Given the description of an element on the screen output the (x, y) to click on. 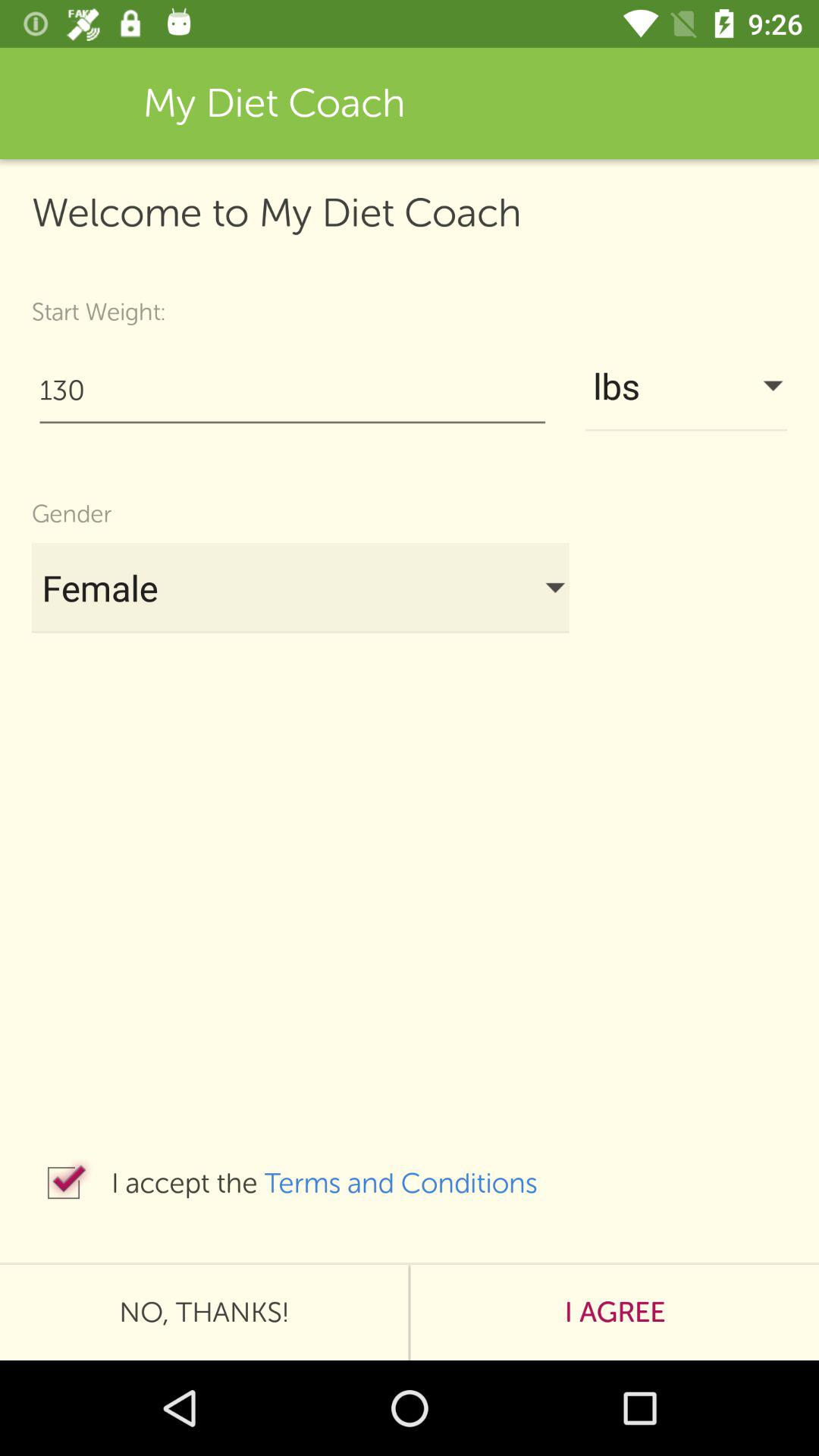
scroll to no, thanks! (204, 1312)
